Given the description of an element on the screen output the (x, y) to click on. 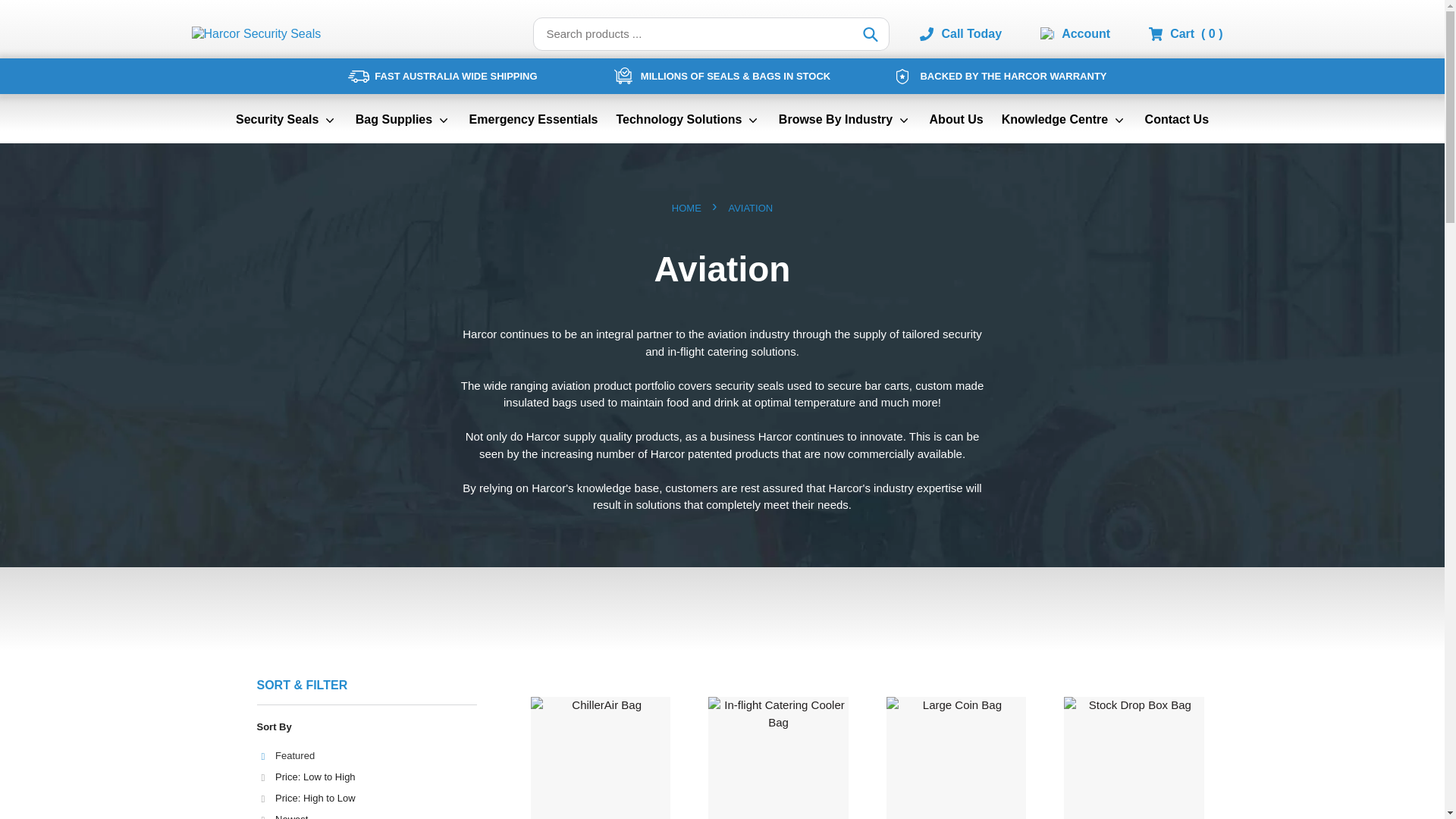
Home (686, 208)
Call Today (976, 34)
Account (1086, 33)
Submit (871, 33)
